Given the description of an element on the screen output the (x, y) to click on. 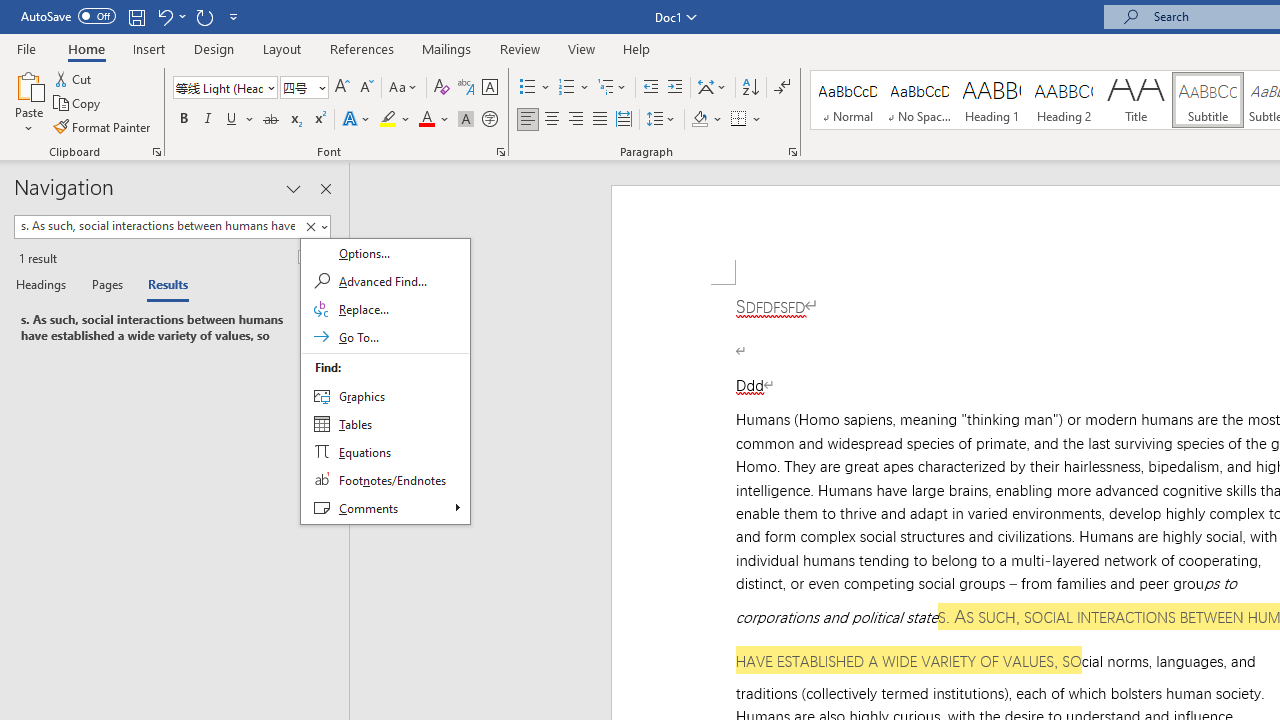
Decrease Indent (650, 87)
Align Right (575, 119)
Clear (310, 227)
Clear Formatting (442, 87)
Clear (314, 227)
Change Case (404, 87)
Subscript (294, 119)
Character Shading (465, 119)
Heading 1 (991, 100)
Copy (78, 103)
Justify (599, 119)
